Given the description of an element on the screen output the (x, y) to click on. 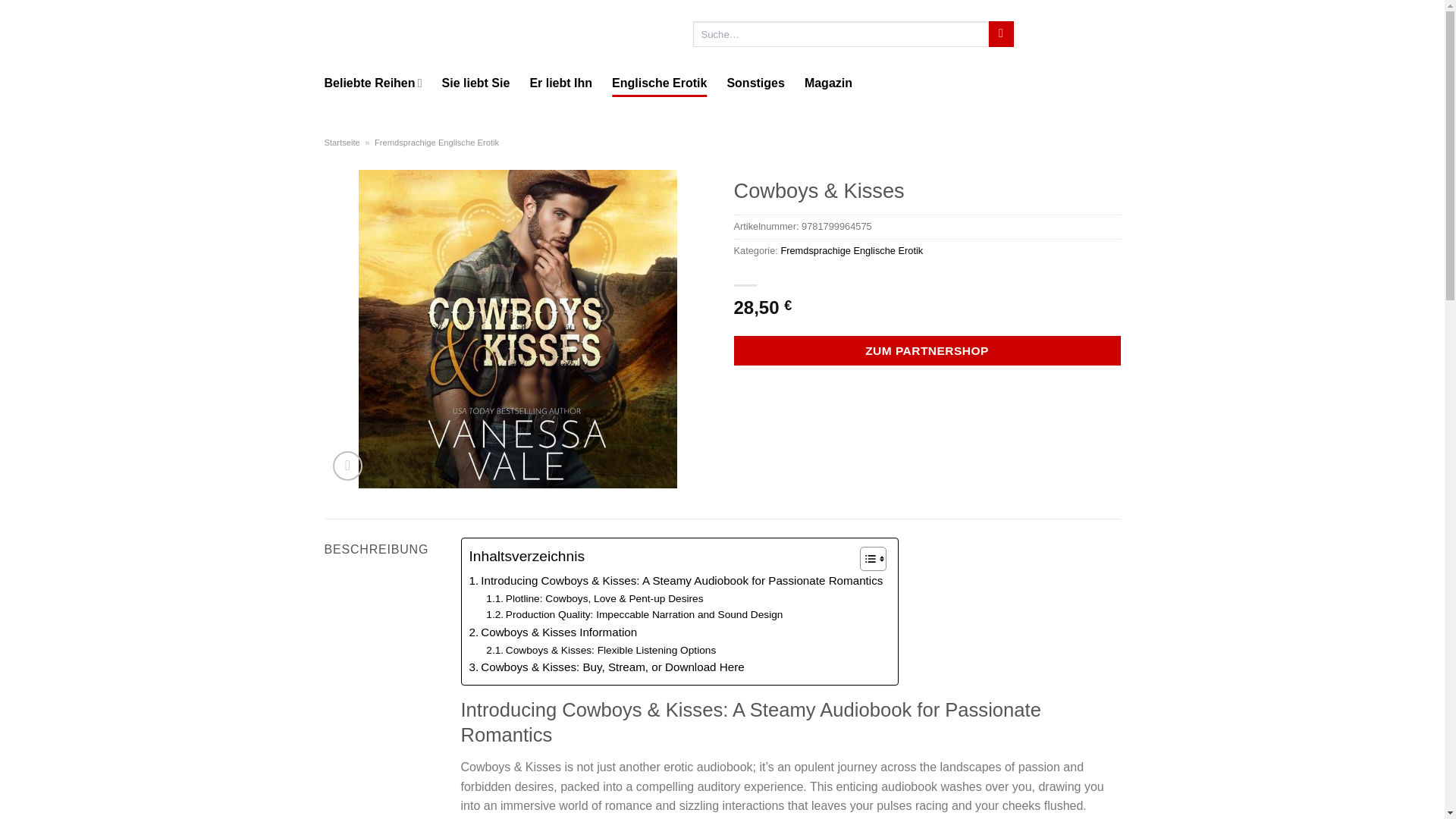
ZUM PARTNERSHOP (927, 350)
Sonstiges (755, 83)
Startseite (341, 142)
Magazin (828, 83)
Er liebt Ihn (560, 83)
Englische Erotik (658, 83)
Suche (1000, 33)
Fremdsprachige Englische Erotik (436, 142)
Zoom (347, 465)
